Given the description of an element on the screen output the (x, y) to click on. 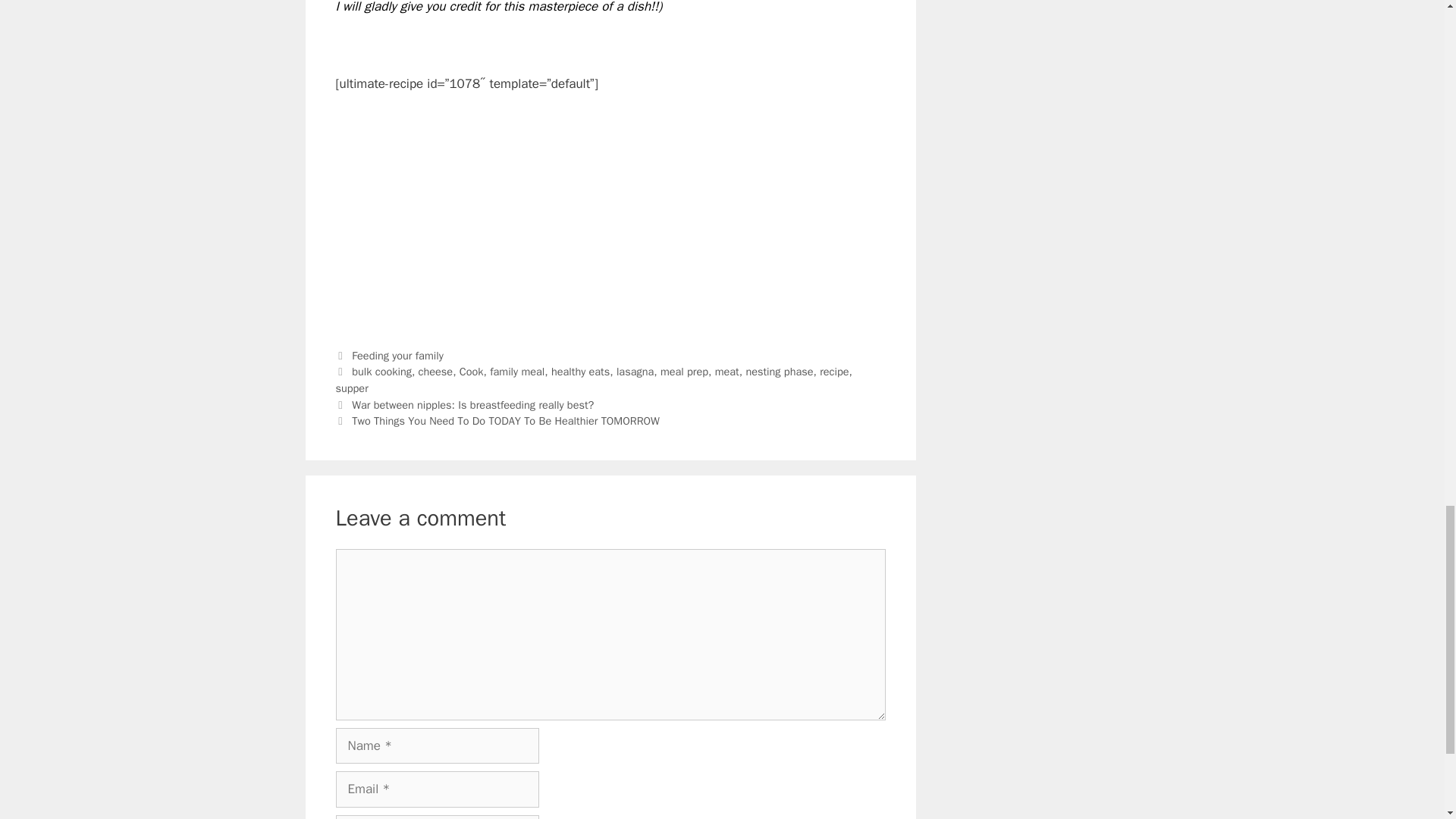
nesting phase (778, 371)
Cook (471, 371)
meat (726, 371)
War between nipples: Is breastfeeding really best? (473, 404)
family meal (516, 371)
recipe (833, 371)
healthy eats (580, 371)
supper (351, 387)
bulk cooking (382, 371)
cheese (435, 371)
